Given the description of an element on the screen output the (x, y) to click on. 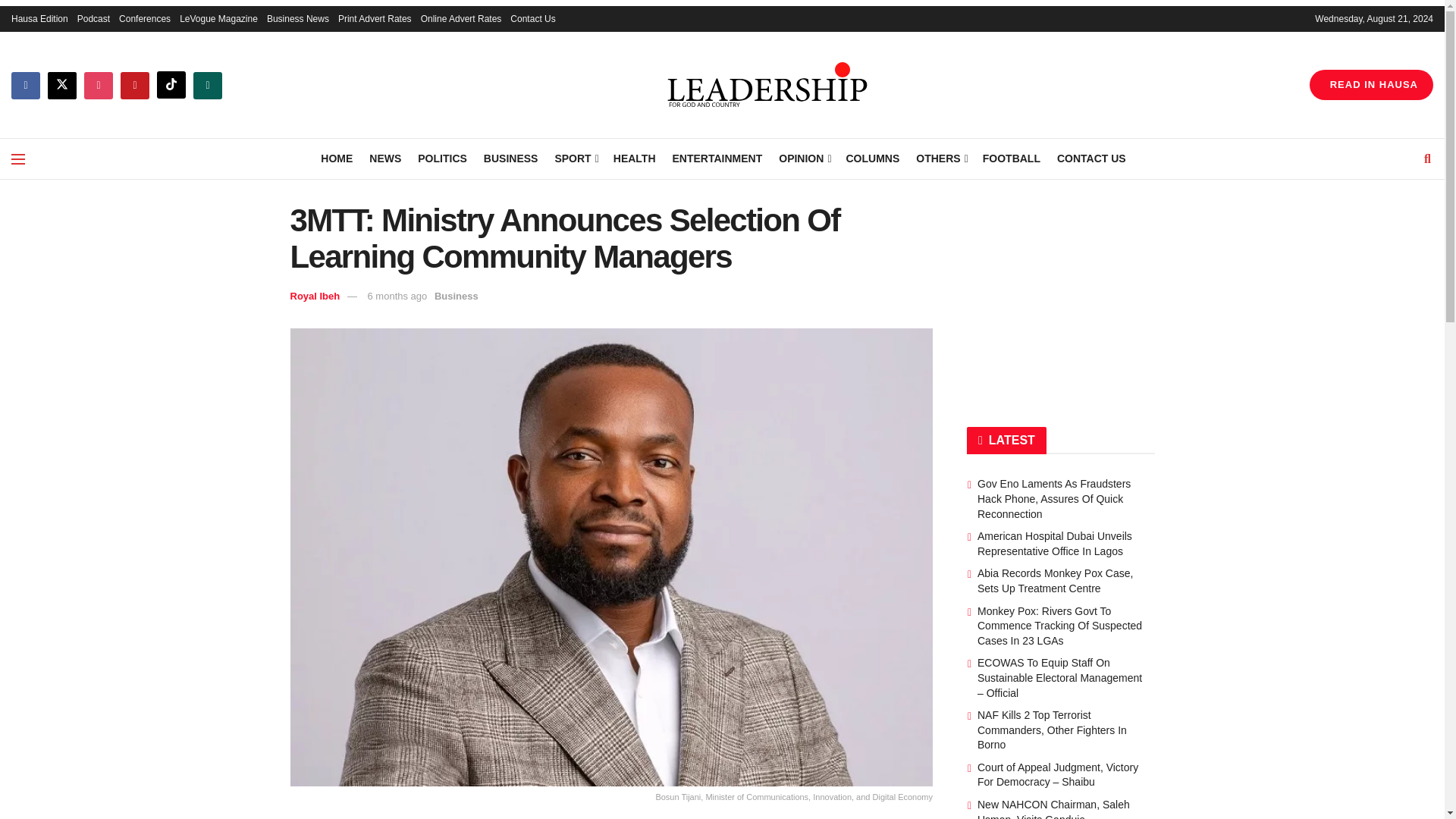
FOOTBALL (1011, 158)
Contact Us (532, 18)
Hausa Edition (39, 18)
Podcast (93, 18)
Print Advert Rates (374, 18)
OTHERS (940, 158)
COLUMNS (872, 158)
Online Advert Rates (461, 18)
READ IN HAUSA (1370, 84)
LeVogue Magazine (218, 18)
